Given the description of an element on the screen output the (x, y) to click on. 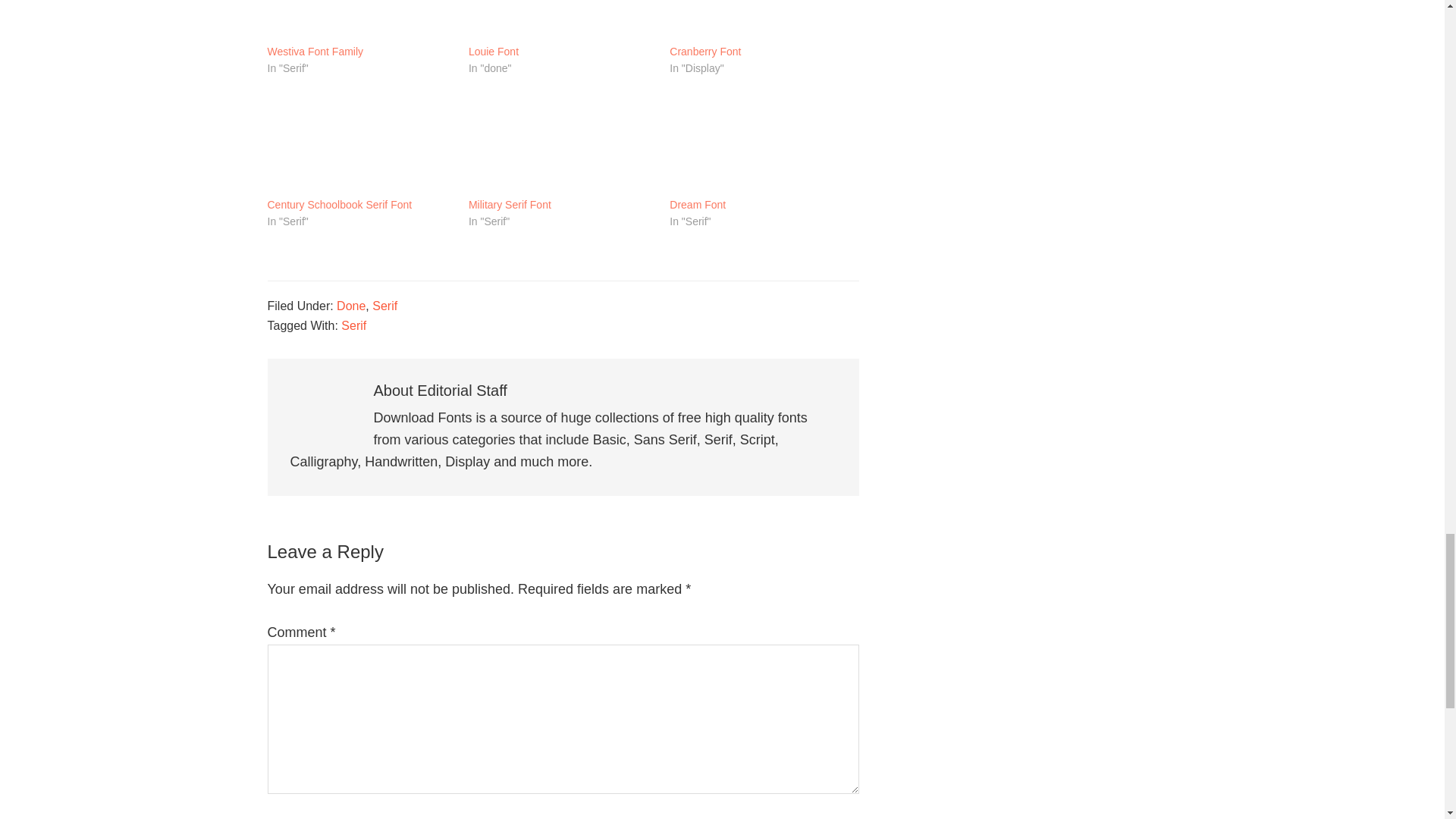
Westiva Font Family (359, 21)
Military Serif Font (560, 143)
Century Schoolbook Serif Font (359, 143)
Done (350, 305)
Military Serif Font (509, 205)
Serif (384, 305)
Cranberry Font (762, 21)
Cranberry Font (705, 51)
Dream Font (697, 205)
Louie Font (493, 51)
